Given the description of an element on the screen output the (x, y) to click on. 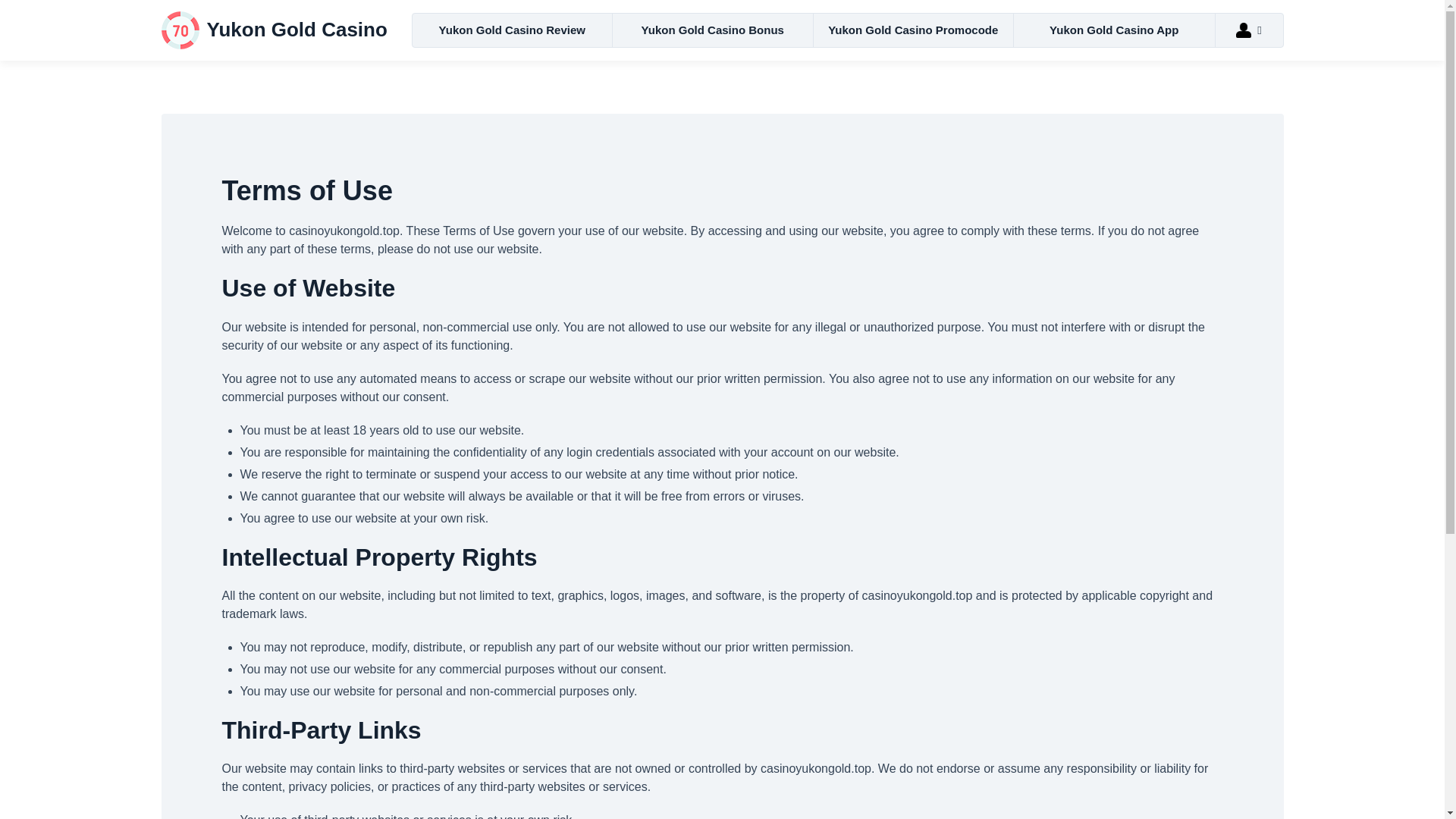
Yukon Gold Casino Promocode (912, 29)
Yukon Gold Casino App (1113, 29)
Yukon Gold Casino (274, 30)
Yukon Gold Casino Bonus (712, 29)
Yukon Gold Casino Review (512, 29)
